Given the description of an element on the screen output the (x, y) to click on. 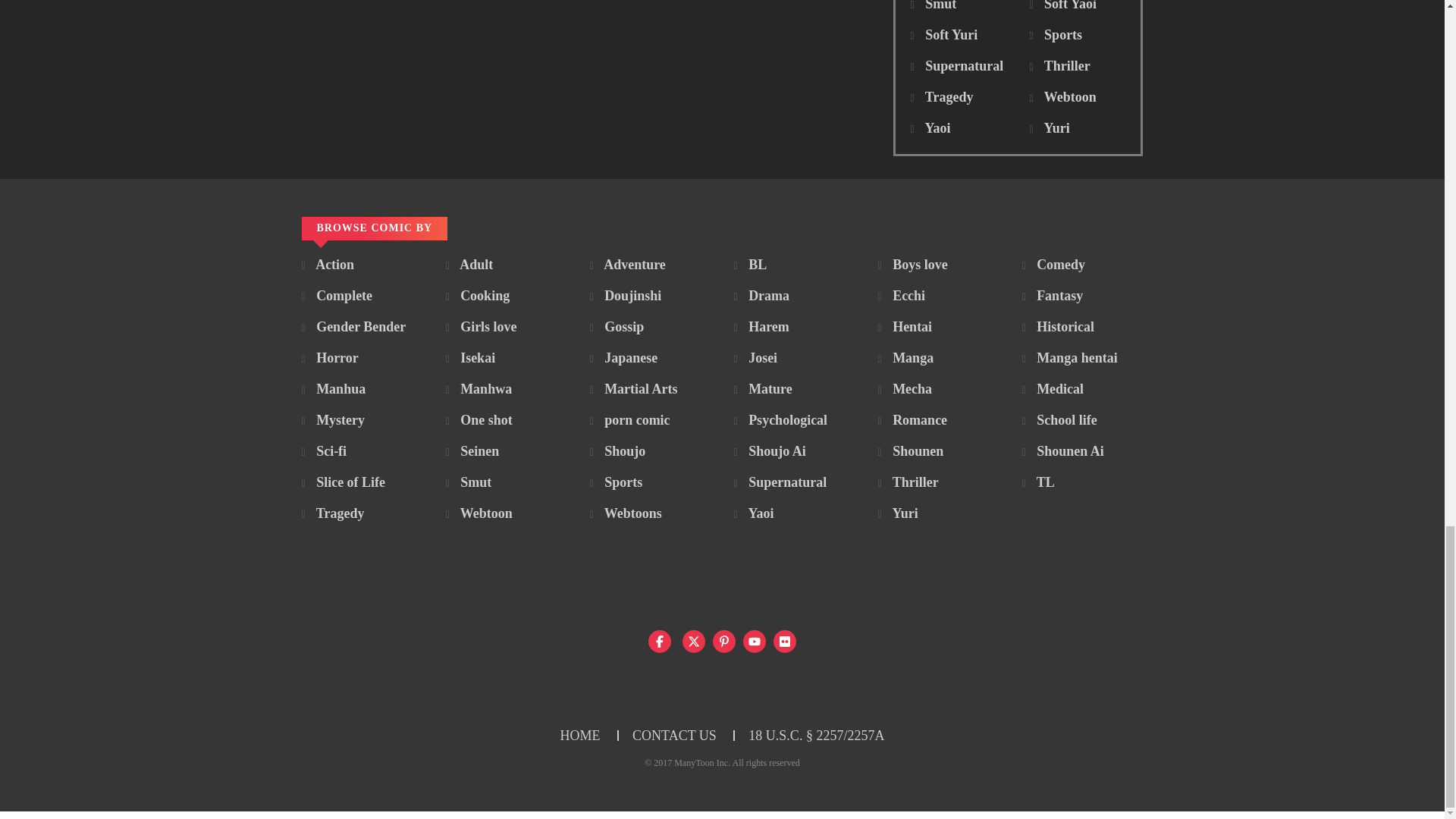
Facebook (659, 640)
Youtube (753, 640)
Flickr (784, 640)
Twitter (693, 640)
Pinterest (724, 640)
